Given the description of an element on the screen output the (x, y) to click on. 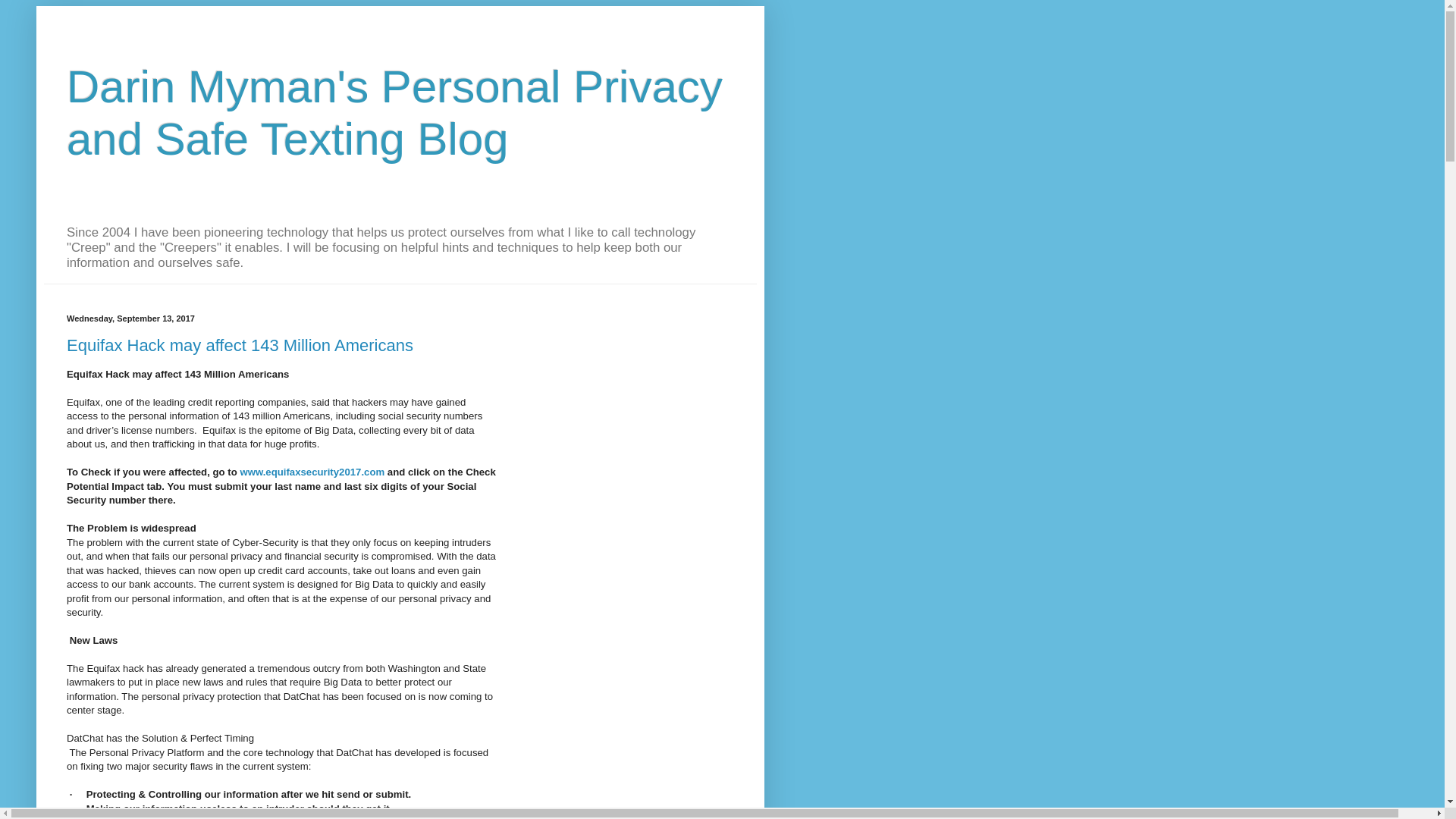
www.equifaxsecurity2017.com (312, 471)
Equifax Hack may affect 143 Million Americans (239, 344)
